Given the description of an element on the screen output the (x, y) to click on. 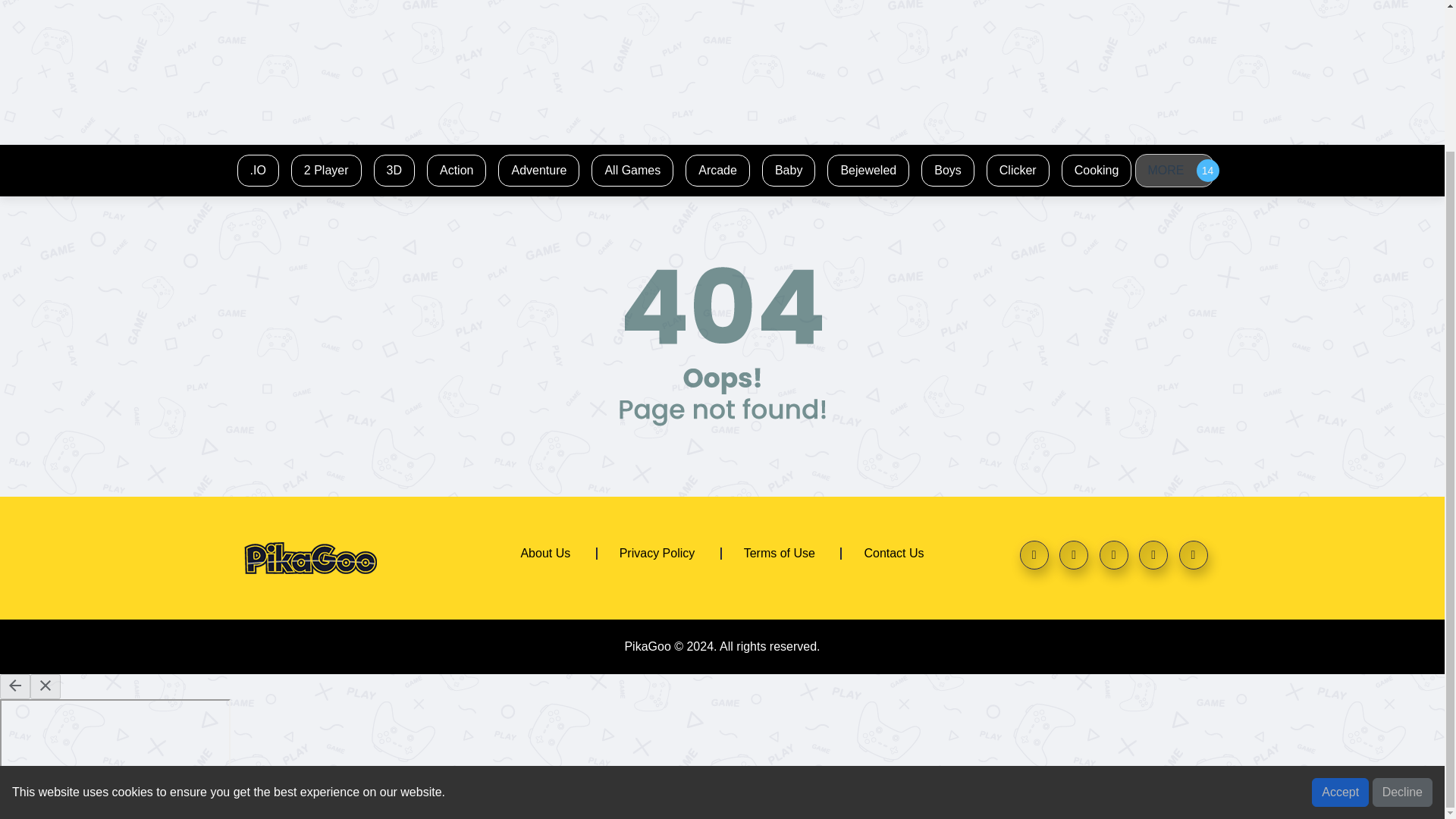
MORE (1173, 170)
Arcade (717, 170)
Clicker (1017, 170)
All Games (632, 170)
Facebook (1034, 554)
Terms of Use (779, 547)
TikTok (1192, 554)
Action (456, 170)
About Us (544, 547)
Cooking (1096, 170)
